Given the description of an element on the screen output the (x, y) to click on. 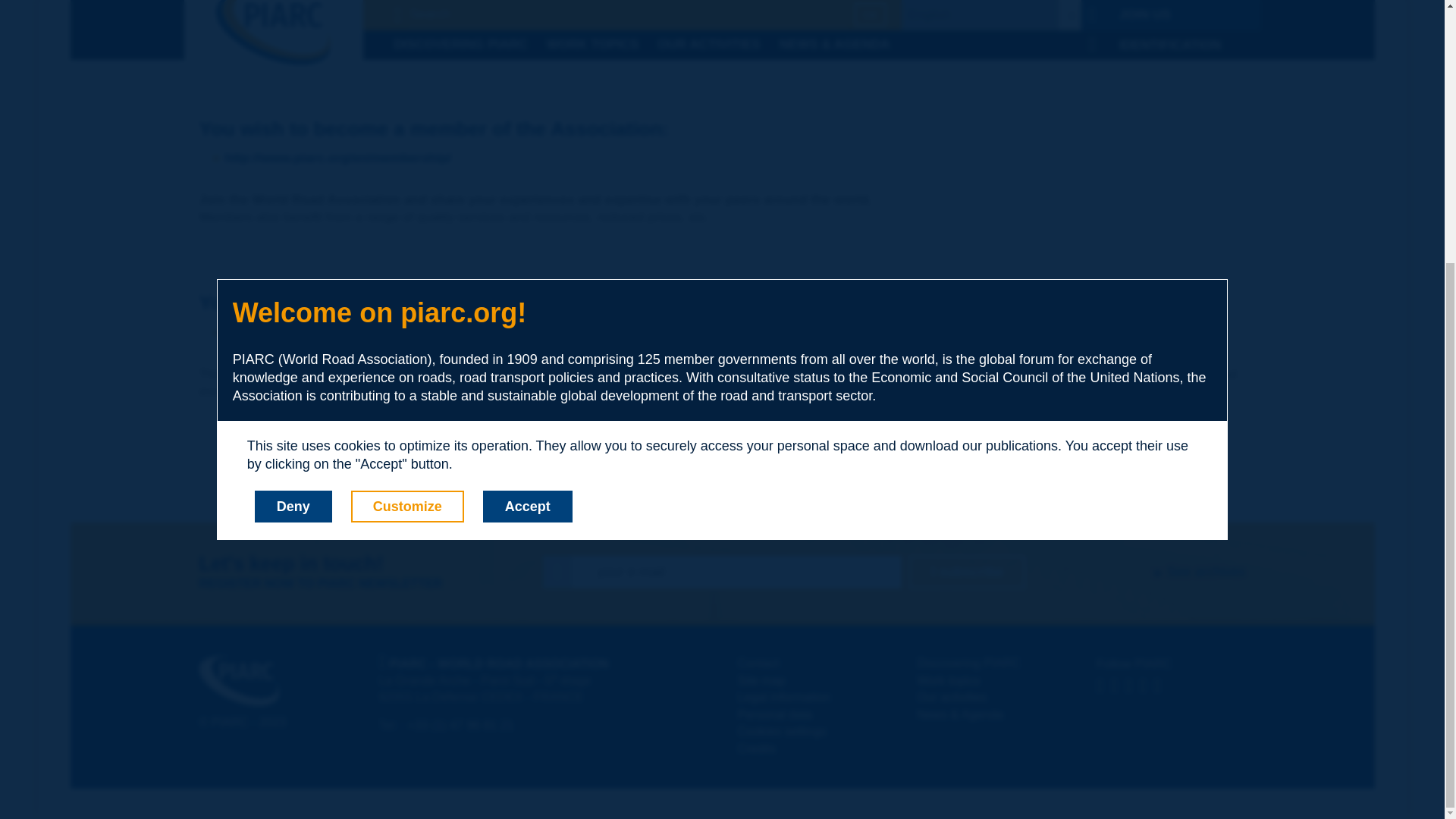
Deny (292, 128)
Customize (407, 128)
Create a Visitor Account! (729, 333)
Become a member of the Association! (729, 158)
Accept (527, 128)
